Given the description of an element on the screen output the (x, y) to click on. 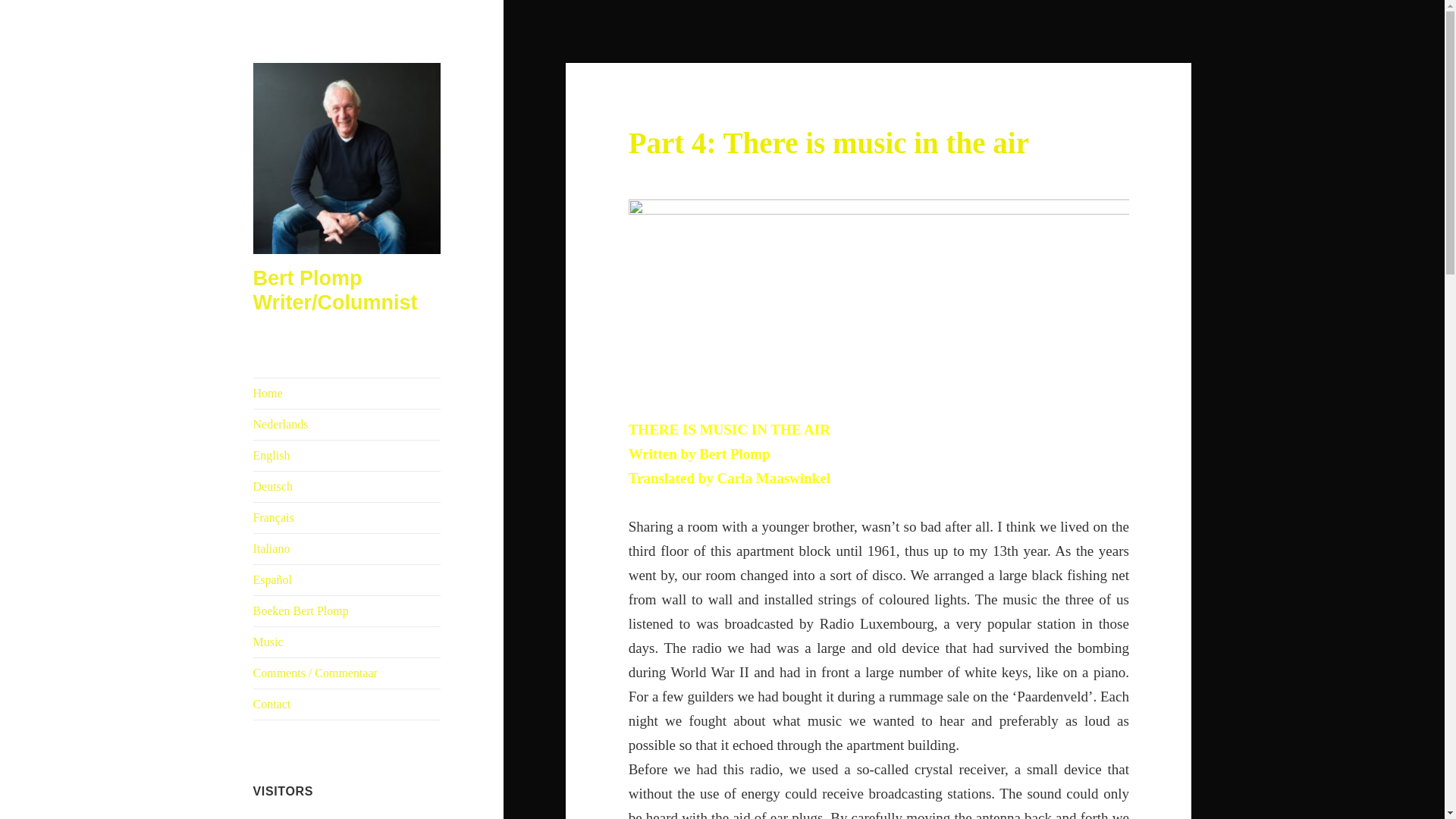
Nederlands (347, 424)
Home (347, 393)
